Given the description of an element on the screen output the (x, y) to click on. 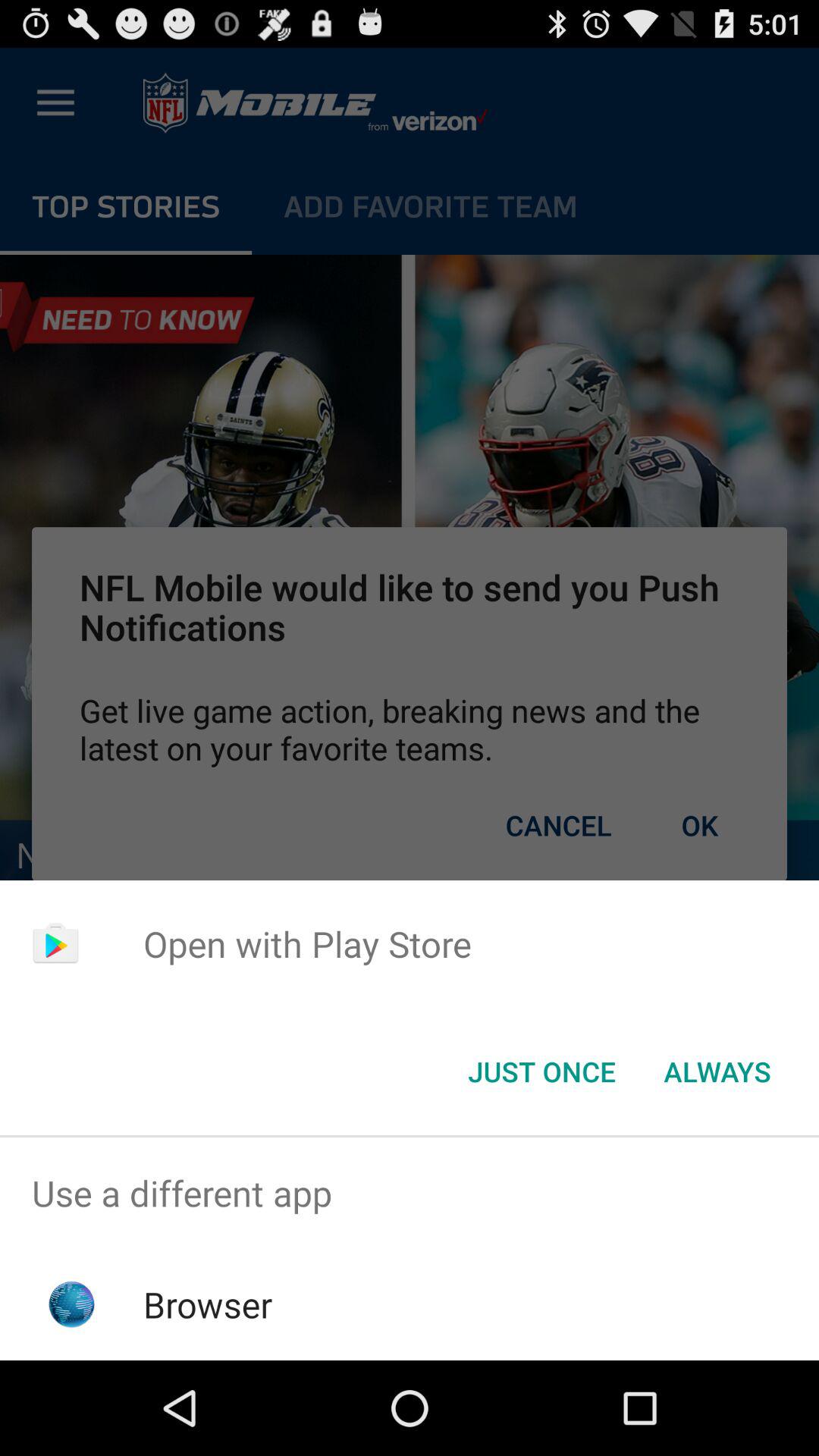
turn off always at the bottom right corner (717, 1071)
